Given the description of an element on the screen output the (x, y) to click on. 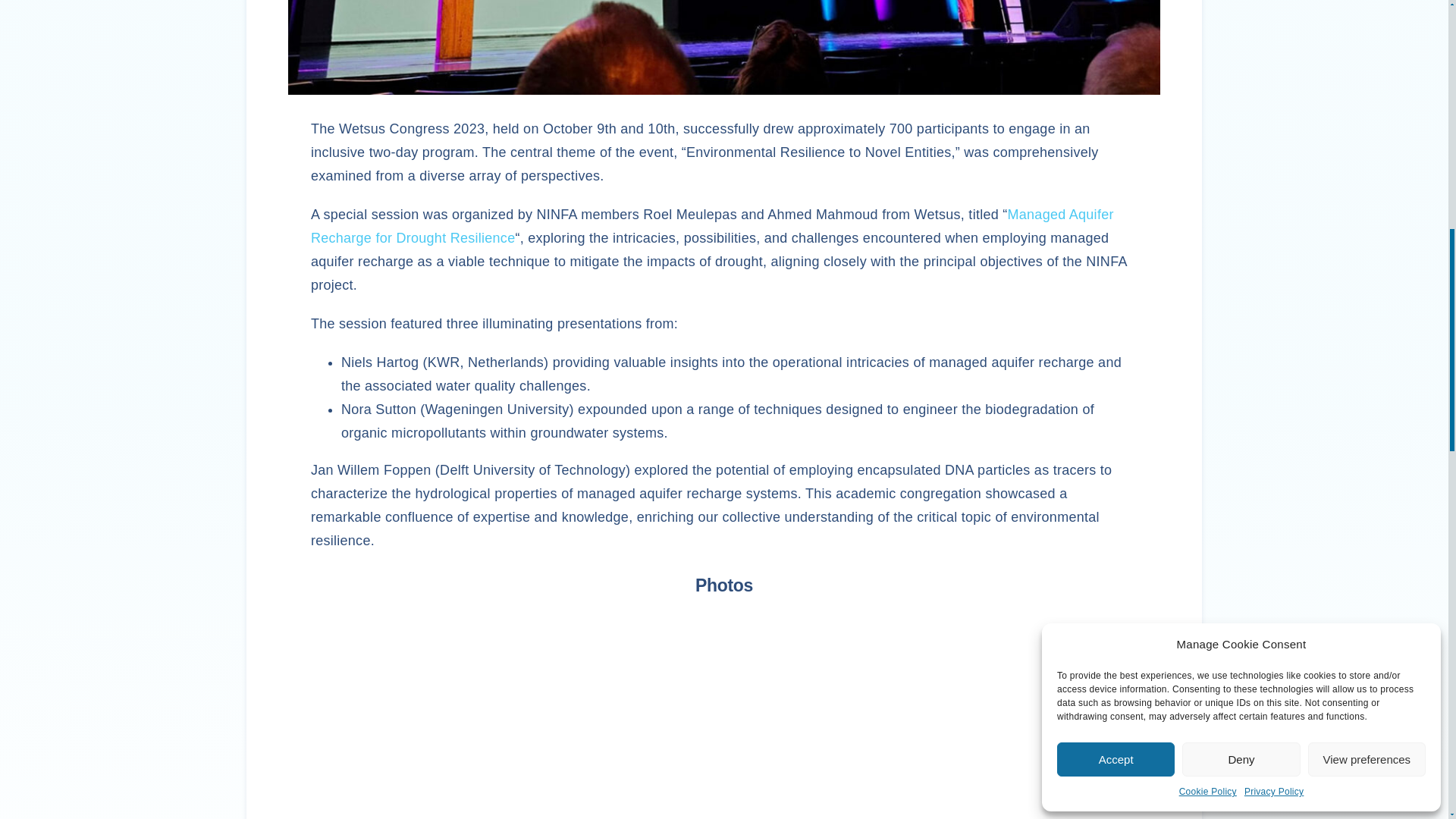
Quantifying-aquifer-heterogeneity (723, 717)
Wetsus-Congress-9-10-October-2023 (724, 47)
